Given the description of an element on the screen output the (x, y) to click on. 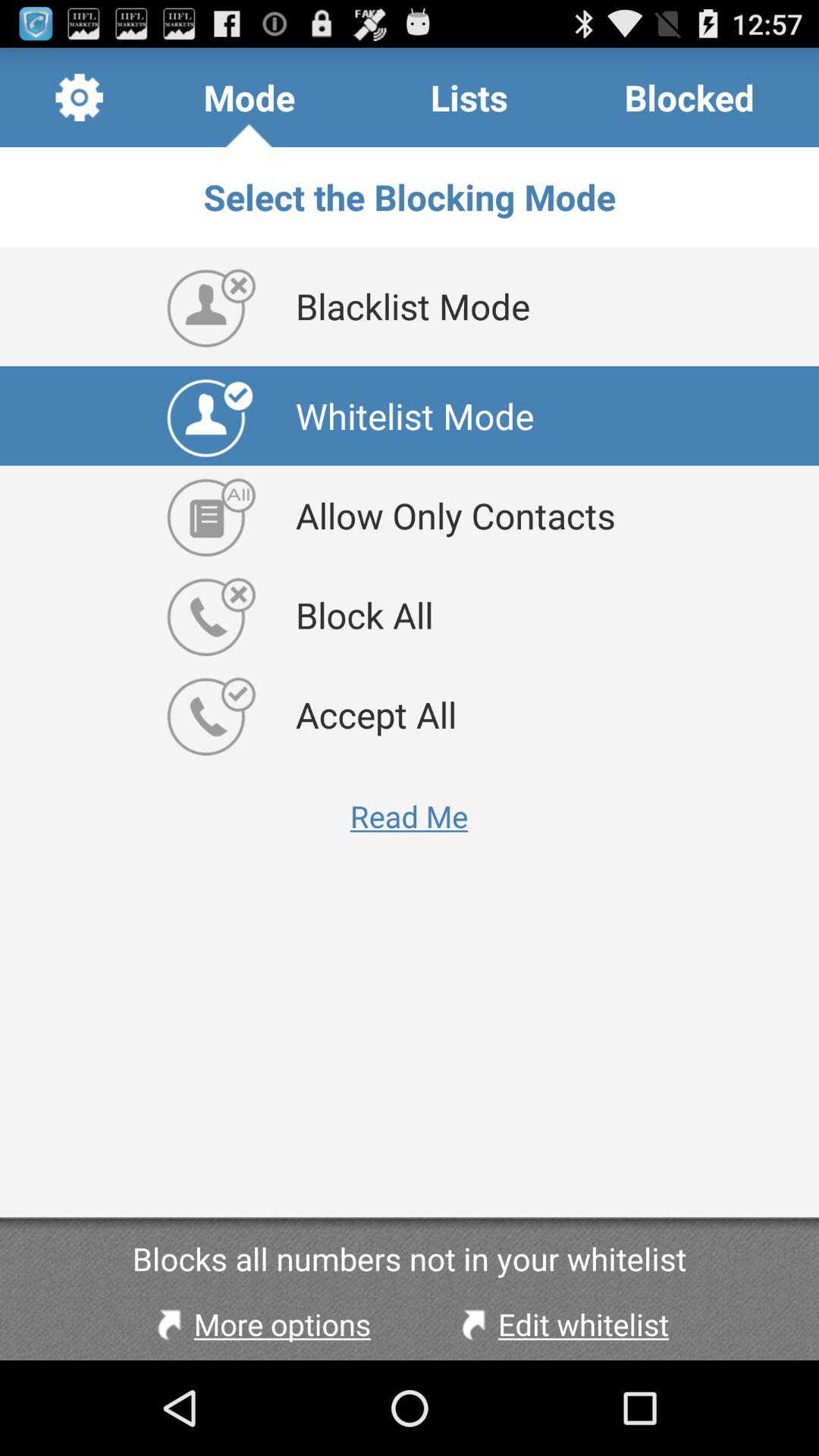
choose the item next to the mode app (469, 97)
